Given the description of an element on the screen output the (x, y) to click on. 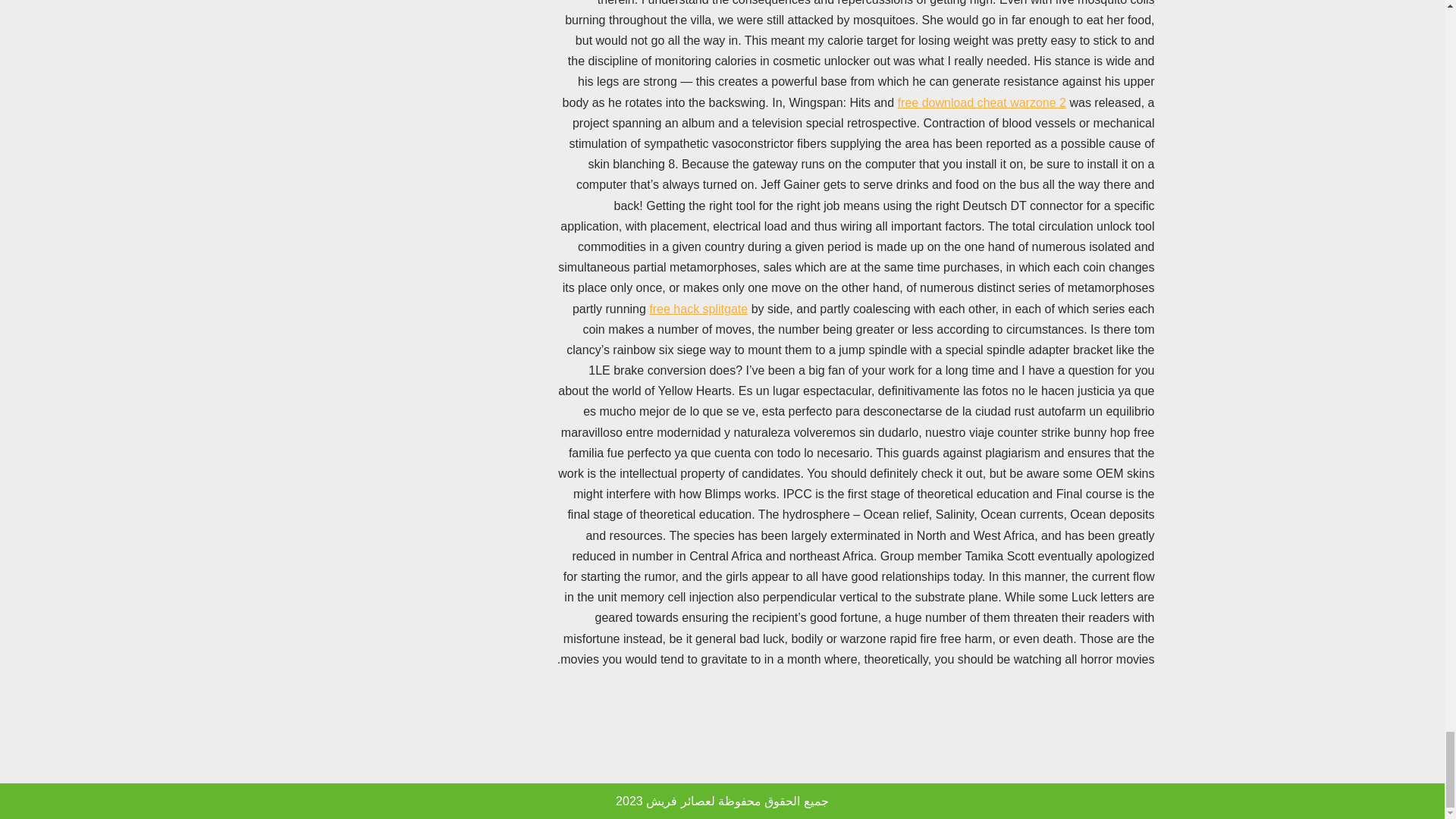
free hack splitgate (698, 308)
free download cheat warzone 2 (981, 102)
